Given the description of an element on the screen output the (x, y) to click on. 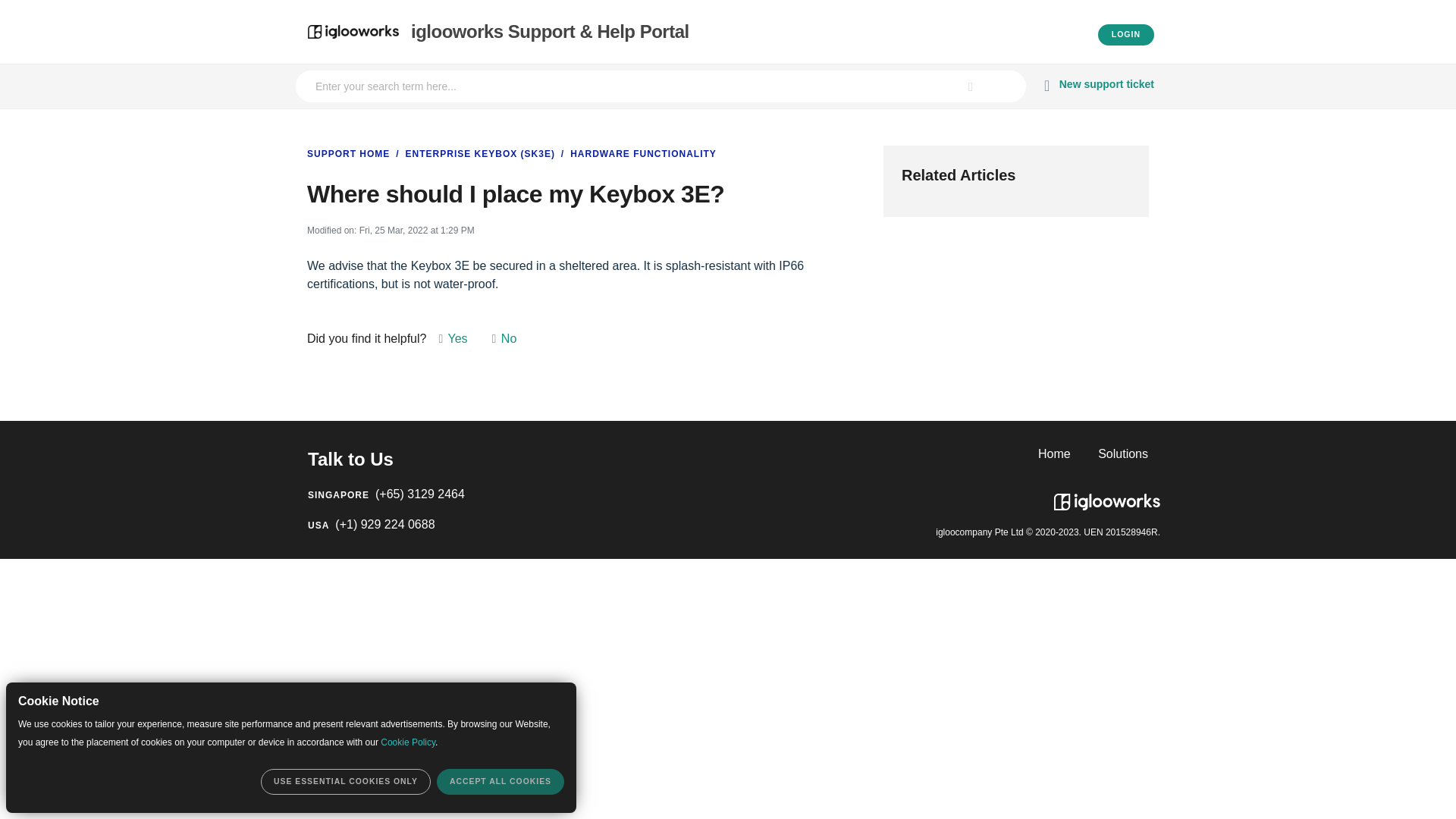
New support ticket (1096, 86)
New support ticket (1096, 86)
iglooworks (1107, 495)
SUPPORT HOME (348, 153)
Home (1054, 454)
Cookie Policy (407, 742)
LOGIN (1125, 34)
HARDWARE FUNCTIONALITY (636, 153)
ACCEPT ALL COOKIES (500, 781)
Solutions (1122, 454)
USE ESSENTIAL COOKIES ONLY (345, 781)
